Given the description of an element on the screen output the (x, y) to click on. 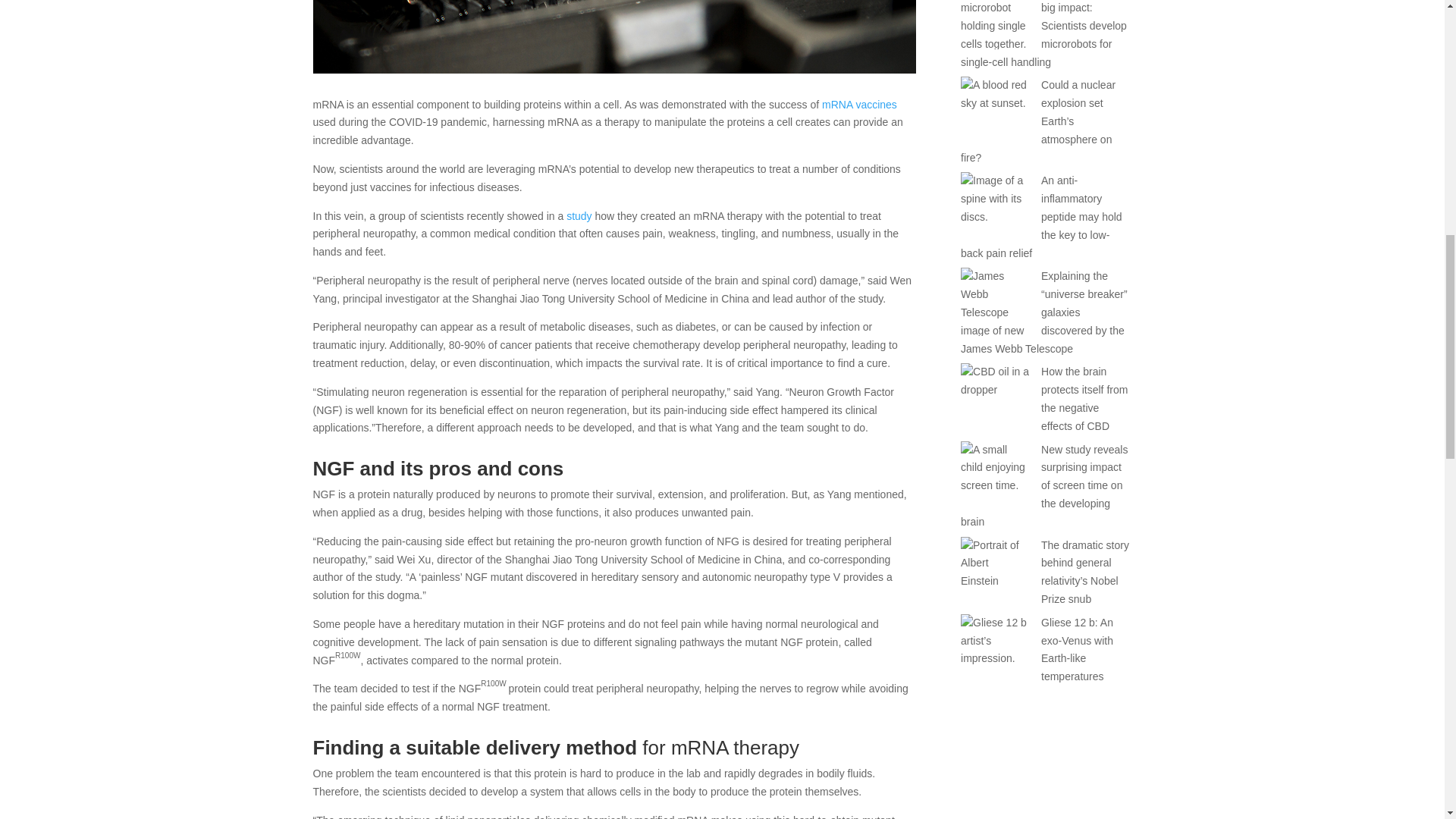
mRNA therapy (614, 36)
mRNA vaccines (859, 104)
study (578, 215)
